Given the description of an element on the screen output the (x, y) to click on. 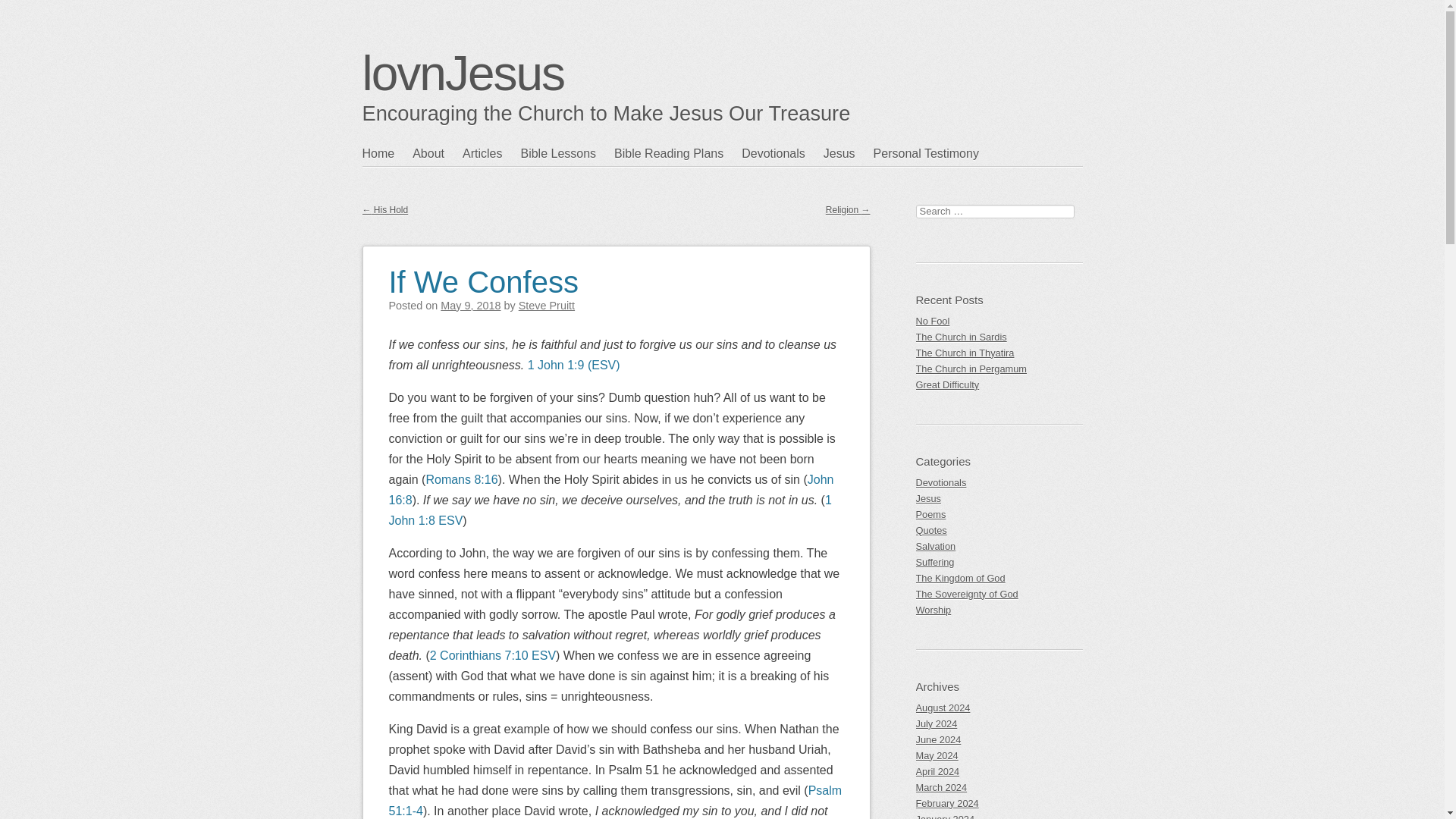
Articles (491, 153)
Great Difficulty (999, 384)
lovnJesus (463, 72)
3:51 pm (470, 305)
Romans 8:16 (461, 479)
If We Confess (483, 272)
Personal Testimony (935, 153)
Devotionals (782, 153)
lovnJesus (463, 72)
John 16:8 (610, 489)
